Given the description of an element on the screen output the (x, y) to click on. 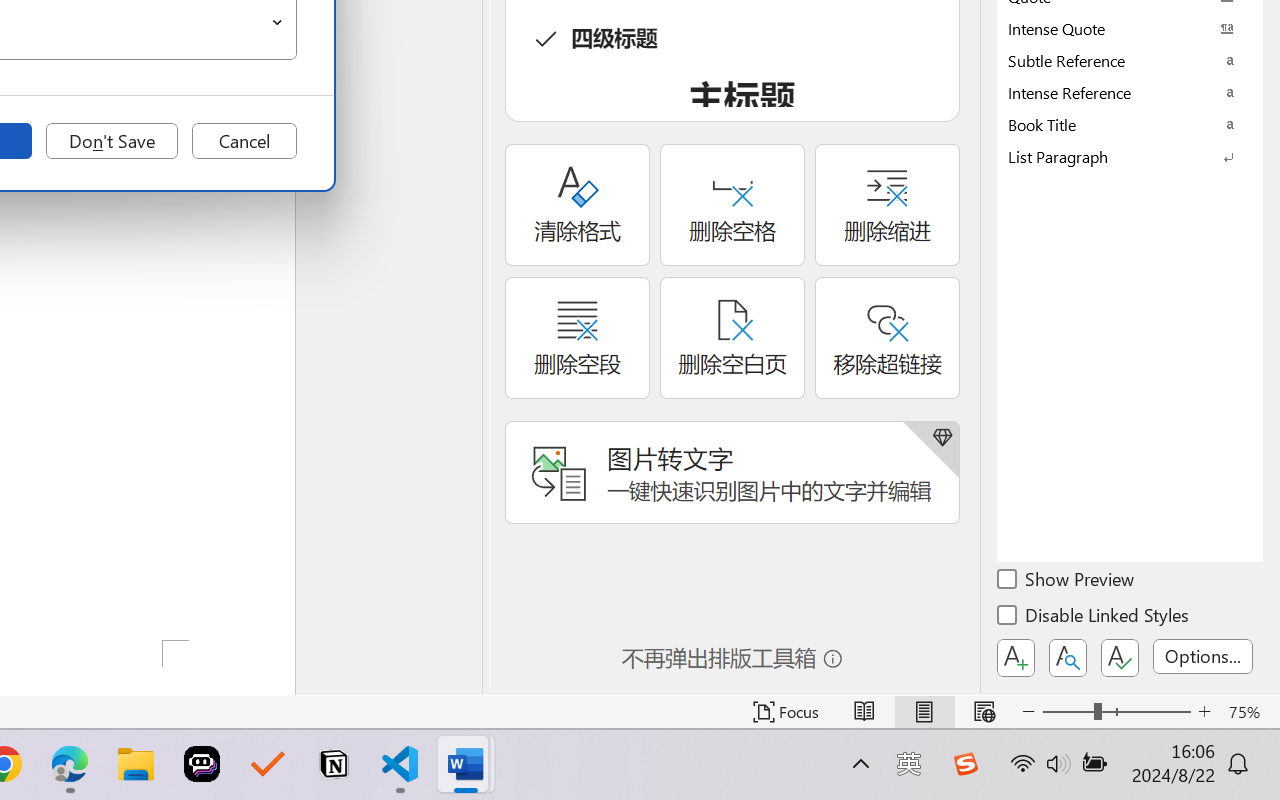
Web Layout (984, 712)
Options... (1203, 656)
Book Title (1130, 124)
Zoom Out (1067, 712)
